Given the description of an element on the screen output the (x, y) to click on. 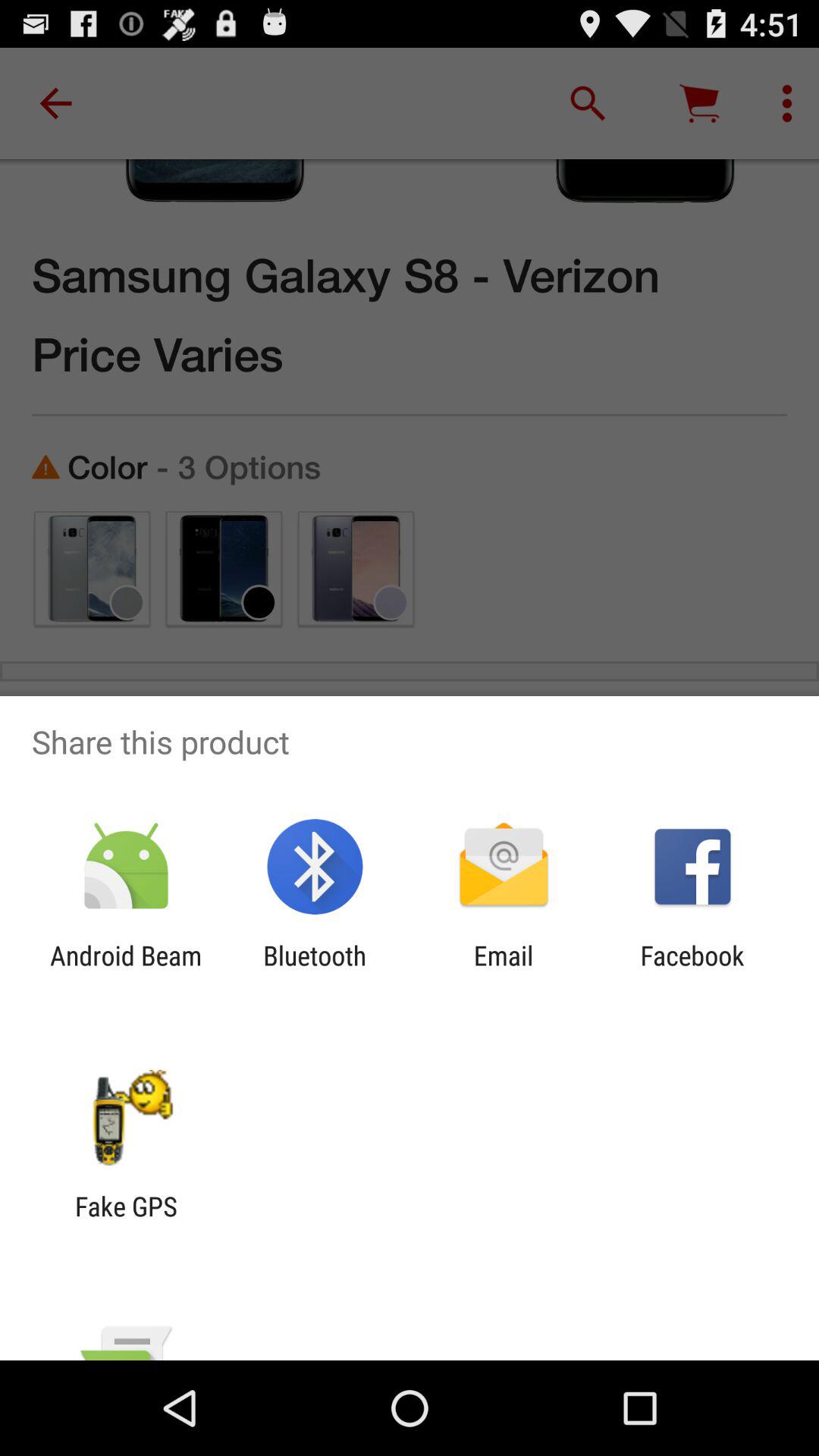
flip to the facebook icon (692, 971)
